Given the description of an element on the screen output the (x, y) to click on. 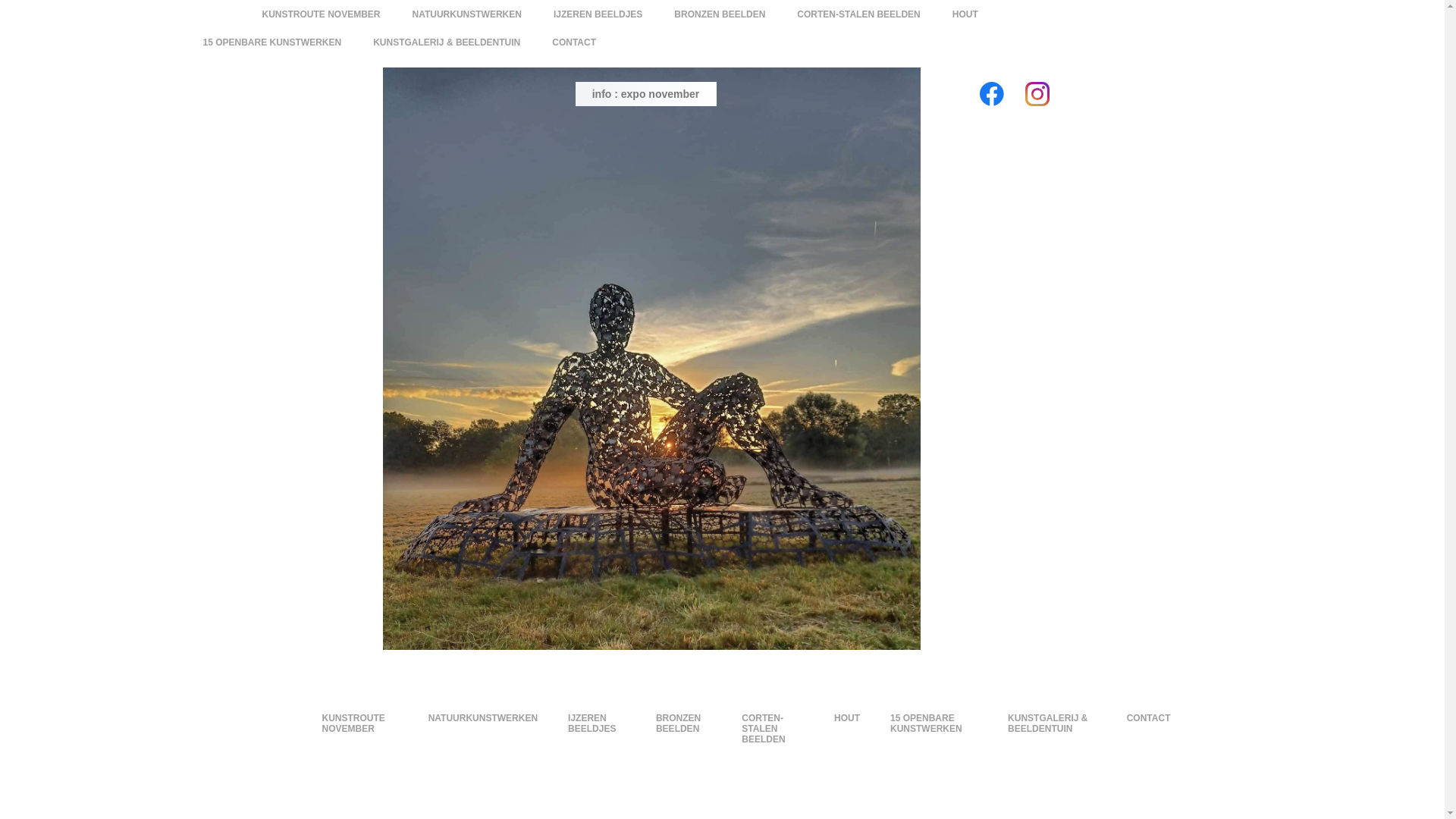
HOUT Element type: text (847, 717)
IJZEREN BEELDJES Element type: text (597, 14)
CORTEN-STALEN BEELDEN Element type: text (772, 728)
CONTACT Element type: text (573, 42)
CORTEN-STALEN BEELDEN Element type: text (858, 14)
IJZEREN BEELDJES Element type: text (596, 722)
HOME Element type: text (216, 14)
HOME Element type: text (277, 717)
NATUURKUNSTWERKEN Element type: text (466, 14)
  Element type: text (650, 74)
info : expo november Element type: text (645, 93)
HOUT Element type: text (965, 14)
15 OPENBARE KUNSTWERKEN Element type: text (272, 42)
NATUURKUNSTWERKEN Element type: text (482, 717)
KUNSTGALERIJ & BEELDENTUIN Element type: text (1051, 722)
KUNSTROUTE NOVEMBER Element type: text (359, 722)
CONTACT Element type: text (1148, 717)
15 OPENBARE KUNSTWERKEN Element type: text (933, 722)
BRONZEN BEELDEN Element type: text (683, 722)
KUNSTGALERIJ & BEELDENTUIN Element type: text (446, 42)
KUNSTROUTE NOVEMBER Element type: text (321, 14)
BRONZEN BEELDEN Element type: text (719, 14)
